Given the description of an element on the screen output the (x, y) to click on. 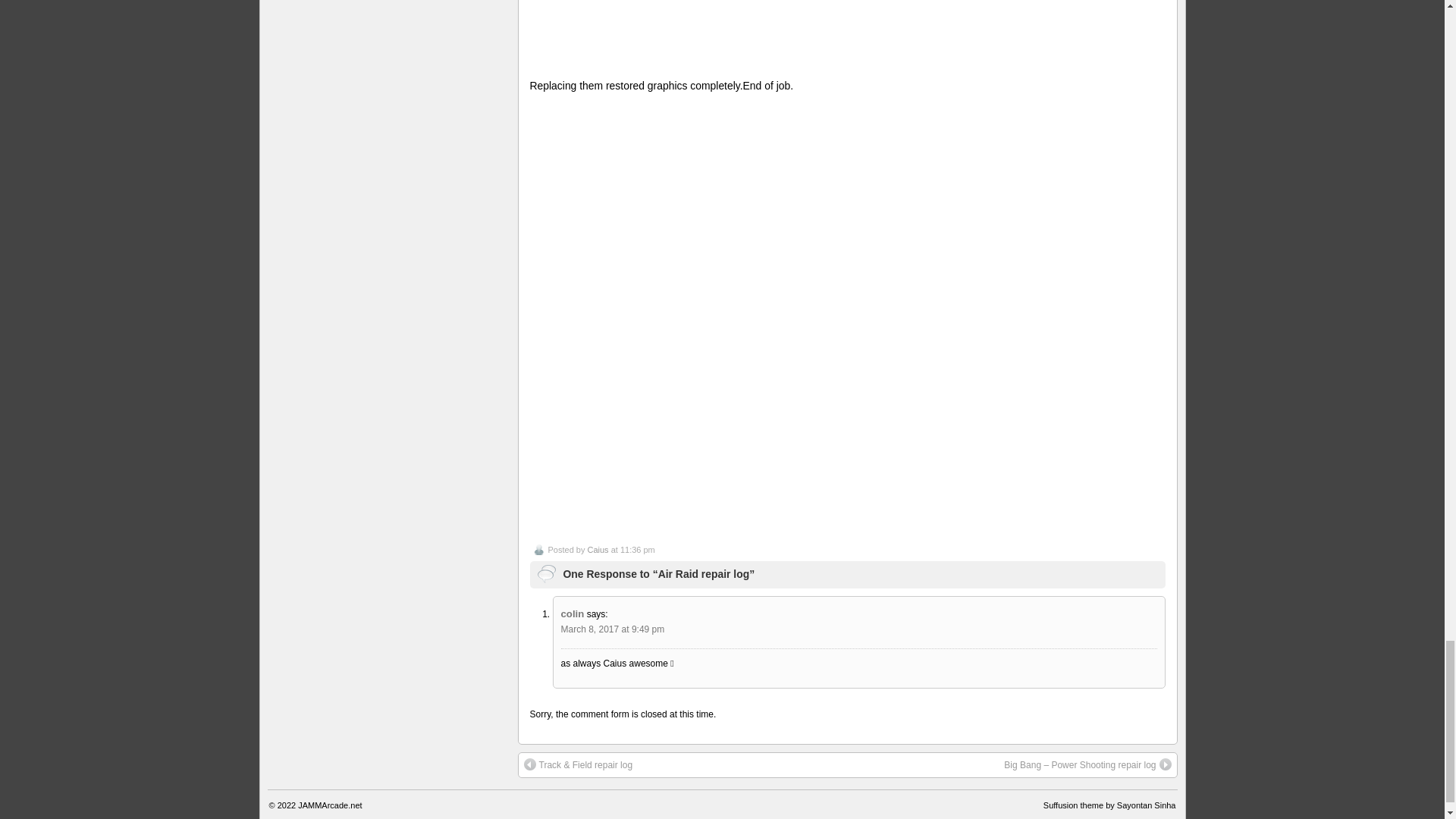
March 8, 2017 at 9:49 pm (612, 629)
JAMMArcade.net (329, 804)
Caius (597, 549)
Suffusion theme by Sayontan Sinha (1109, 804)
